Given the description of an element on the screen output the (x, y) to click on. 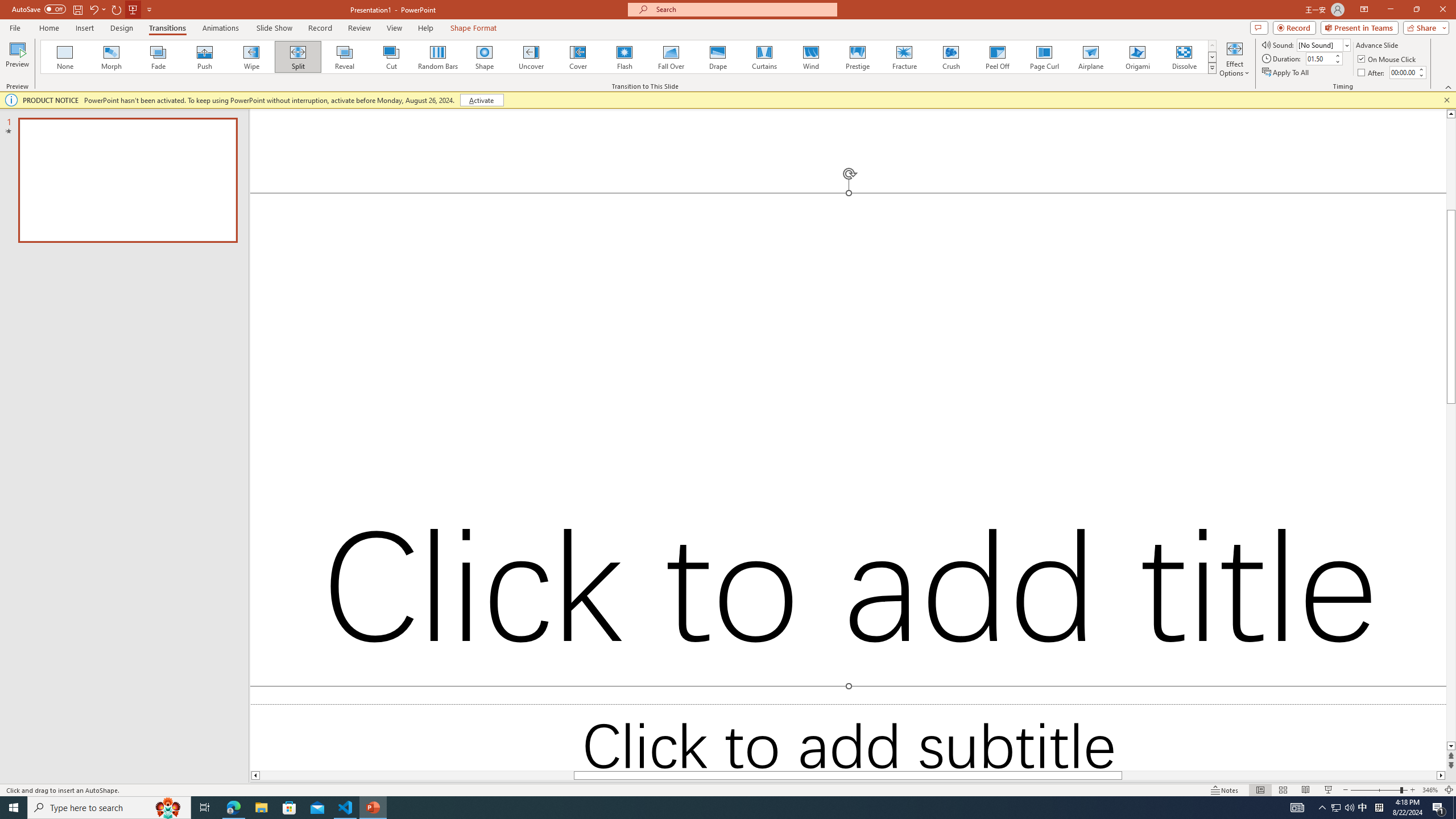
Font Color (323, 102)
Superscript (221, 102)
Line and Paragraph Spacing (527, 102)
Clear All (1369, 201)
Character Border (374, 77)
Office Clipboard... (73, 128)
Intense Quote (1369, 463)
Change Case (297, 77)
Class: NetUIButton (1364, 745)
